Given the description of an element on the screen output the (x, y) to click on. 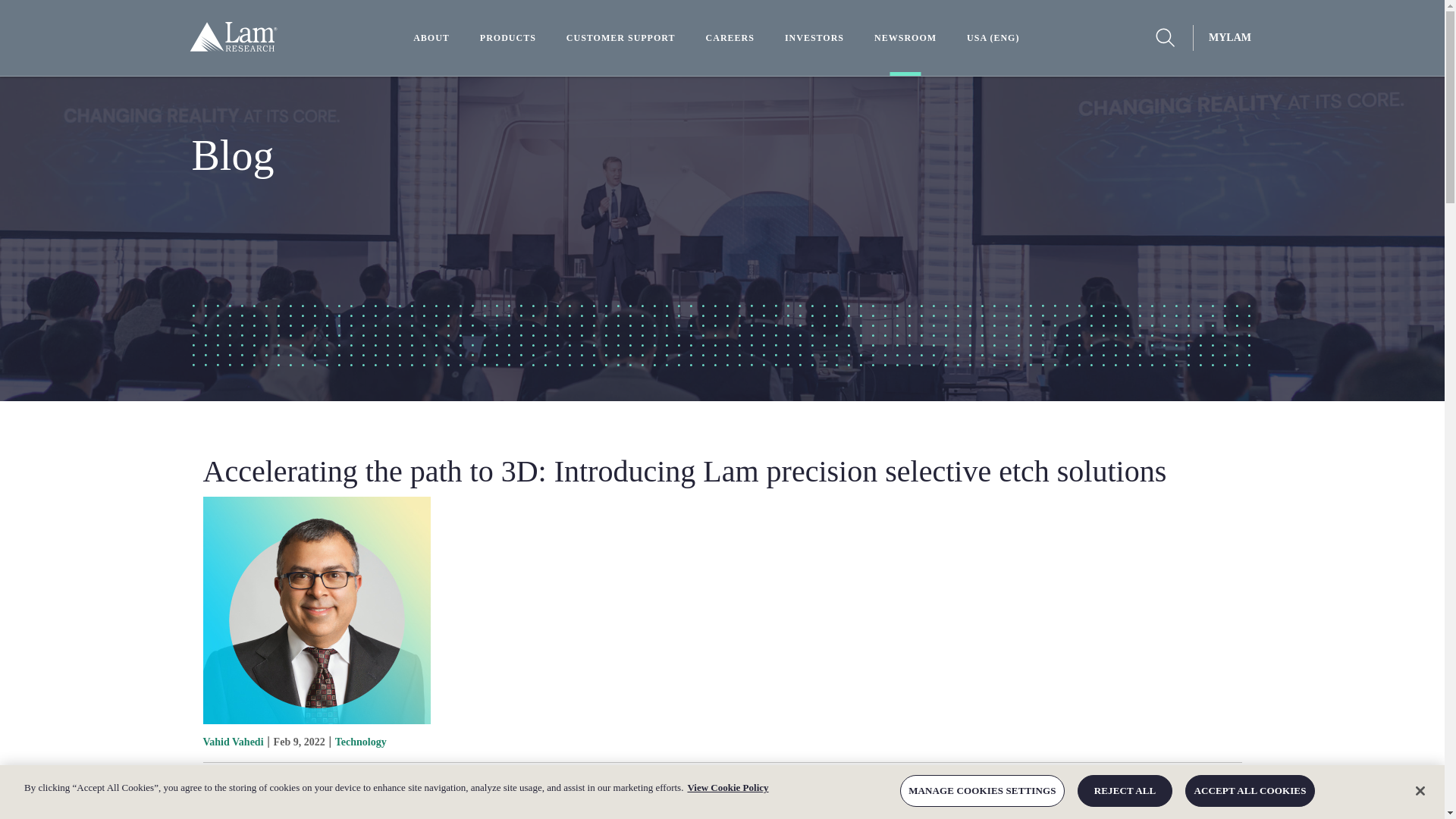
RSS Feed (266, 781)
Email URL (241, 781)
Twitter Share (314, 781)
Facebook Share (290, 781)
PRODUCTS (507, 37)
Lam Research (233, 47)
Print Page (217, 781)
ABOUT (431, 37)
Lam Research Logo (233, 47)
CUSTOMER SUPPORT (620, 37)
Linkedin Share (338, 781)
